Given the description of an element on the screen output the (x, y) to click on. 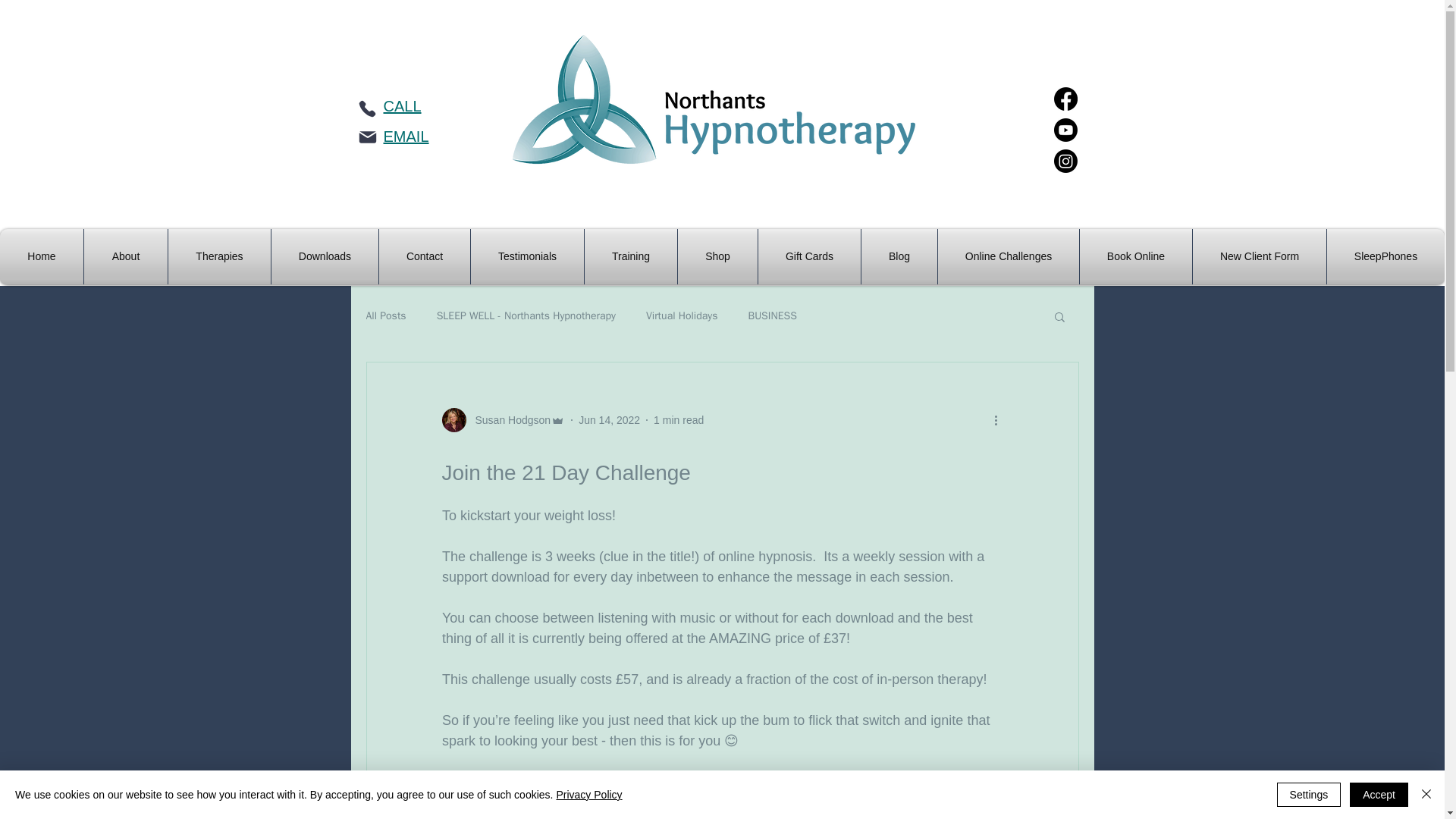
Therapies (219, 256)
Susan Hodgson (507, 420)
Home (41, 256)
Downloads (324, 256)
1 min read (678, 419)
About (125, 256)
Jun 14, 2022 (609, 419)
